Given the description of an element on the screen output the (x, y) to click on. 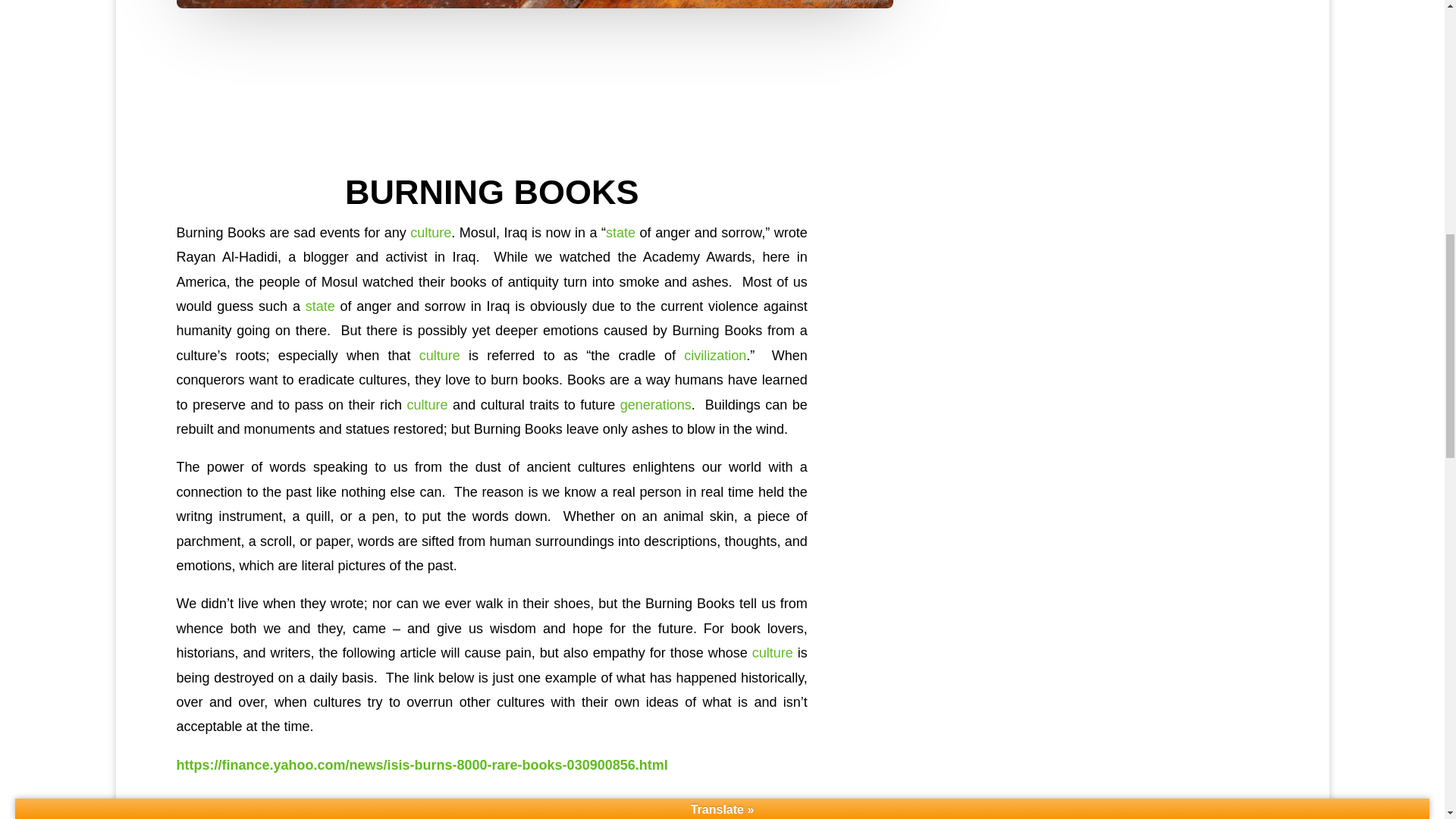
state (619, 232)
ancient-book (534, 4)
generations (655, 404)
culture (772, 652)
culture (430, 232)
civilization (714, 355)
state (319, 305)
culture (427, 404)
culture (439, 355)
